Given the description of an element on the screen output the (x, y) to click on. 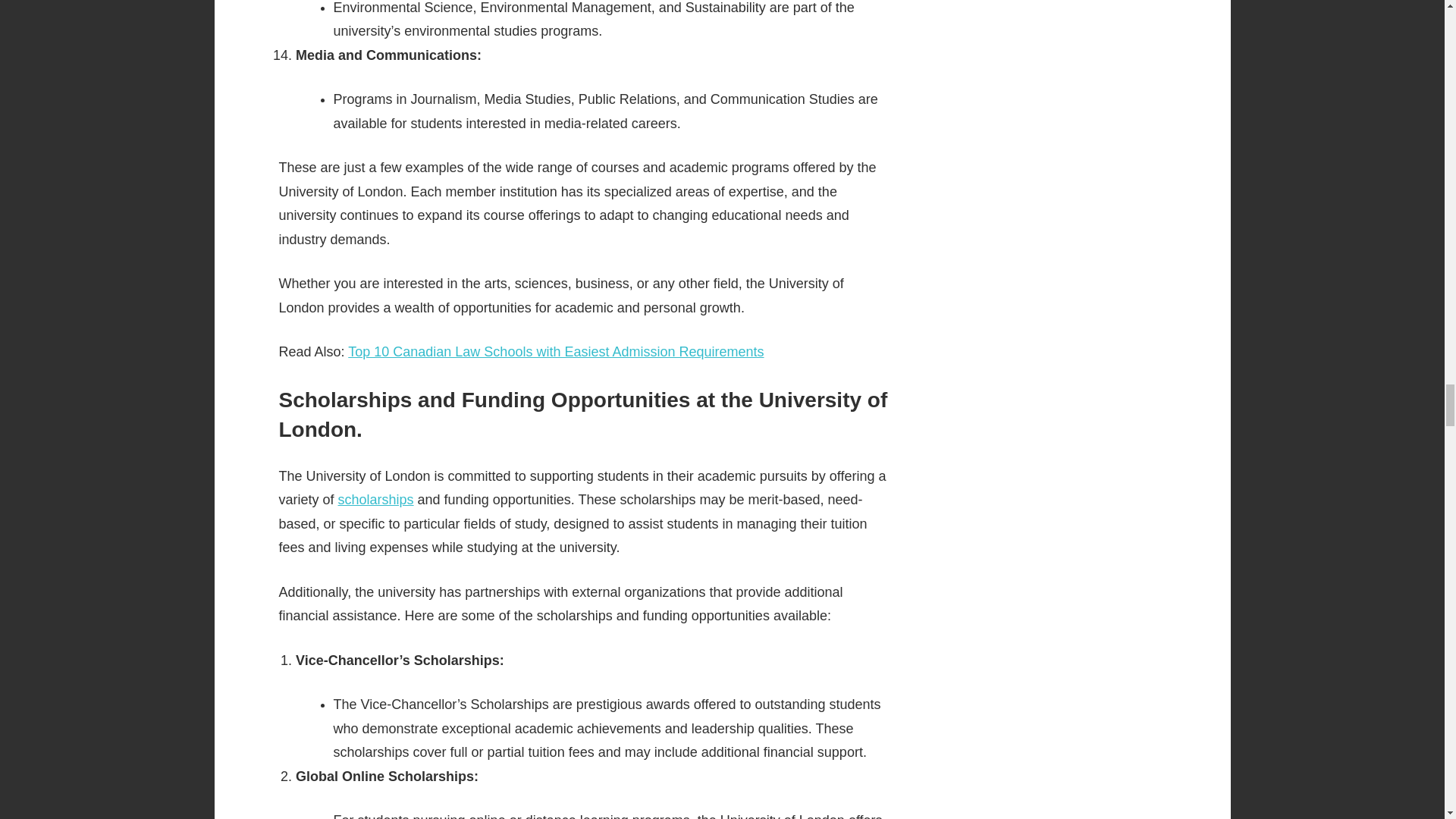
scholarships (375, 499)
